Given the description of an element on the screen output the (x, y) to click on. 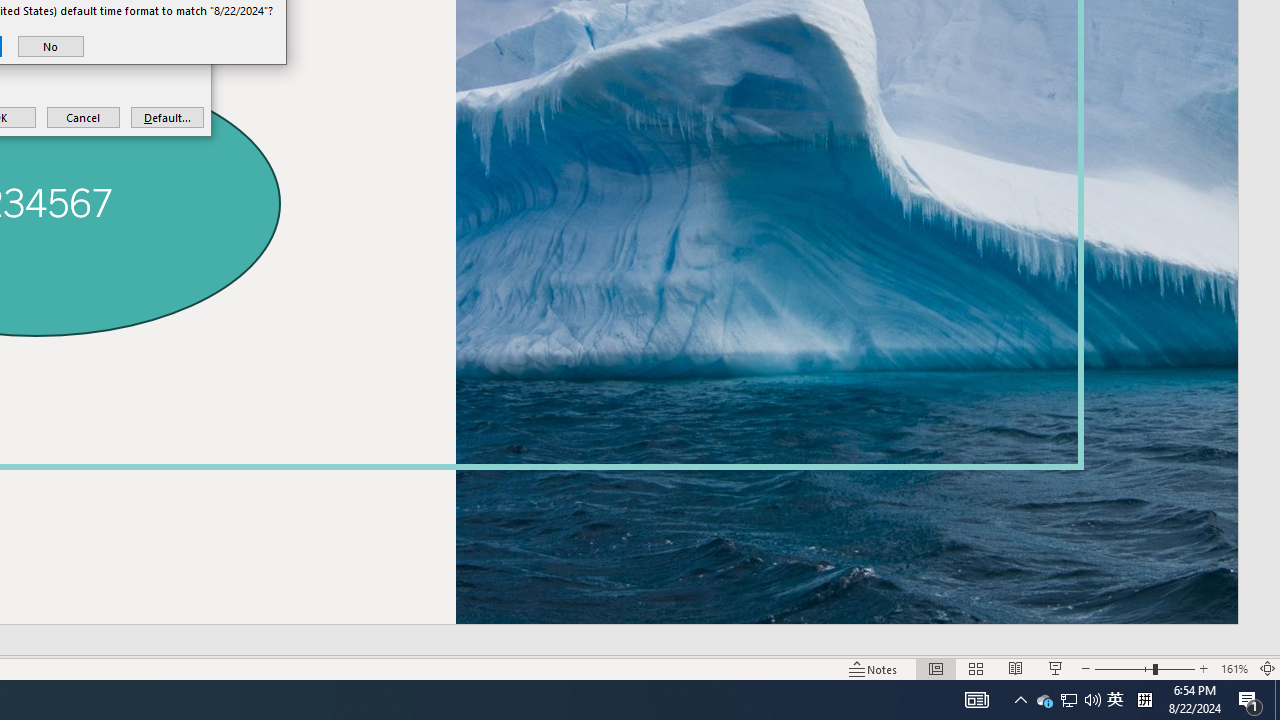
Zoom 161% (1234, 668)
Notes  (874, 668)
Q2790: 100% (1092, 699)
AutomationID: 4105 (976, 699)
Cancel (83, 116)
Tray Input Indicator - Chinese (Simplified, China) (1144, 699)
Zoom (1115, 699)
No (1144, 668)
Normal (50, 46)
User Promoted Notification Area (936, 668)
Notification Chevron (1068, 699)
Default... (1020, 699)
